Given the description of an element on the screen output the (x, y) to click on. 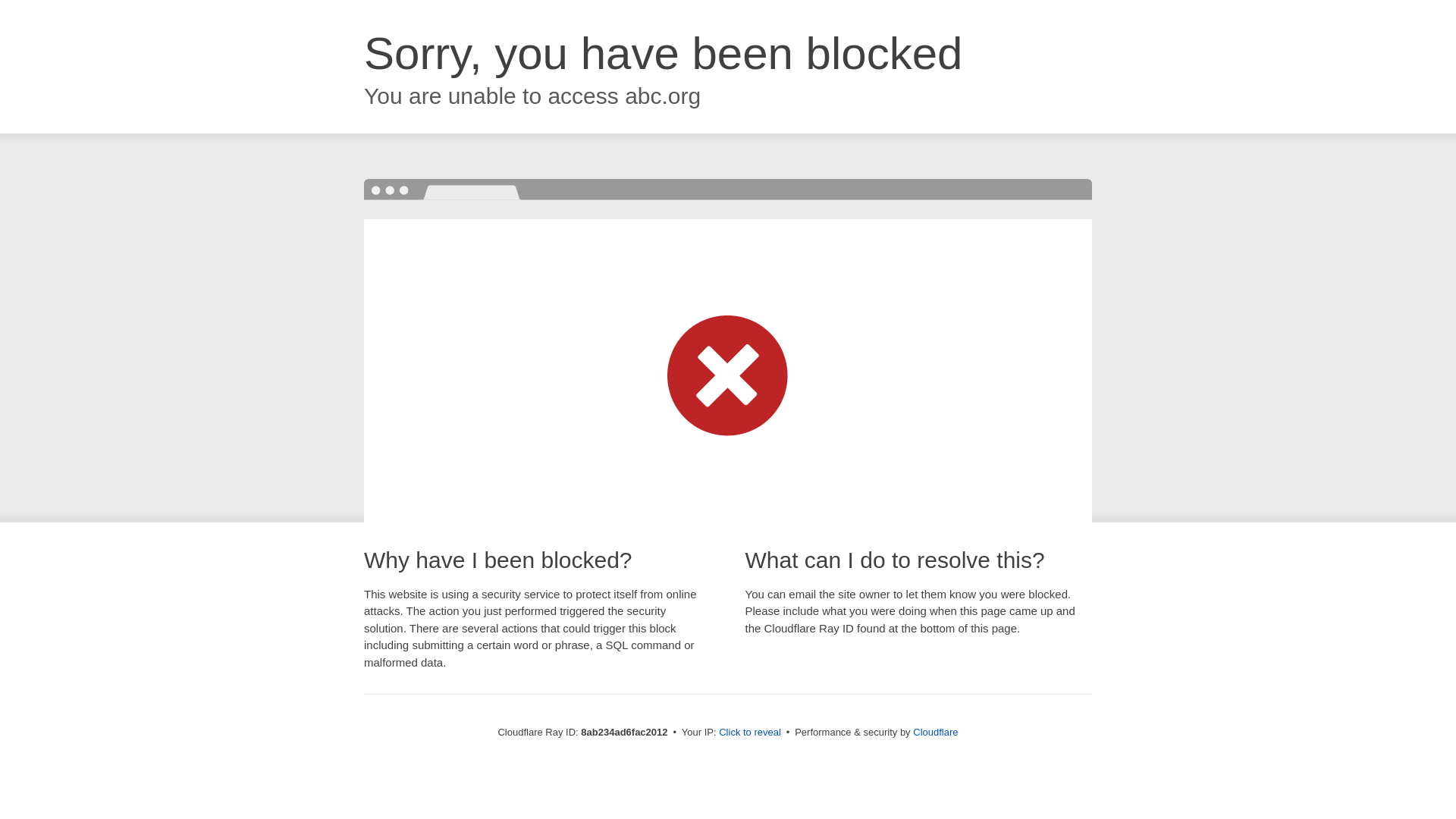
Click to reveal (749, 732)
Cloudflare (935, 731)
